Given the description of an element on the screen output the (x, y) to click on. 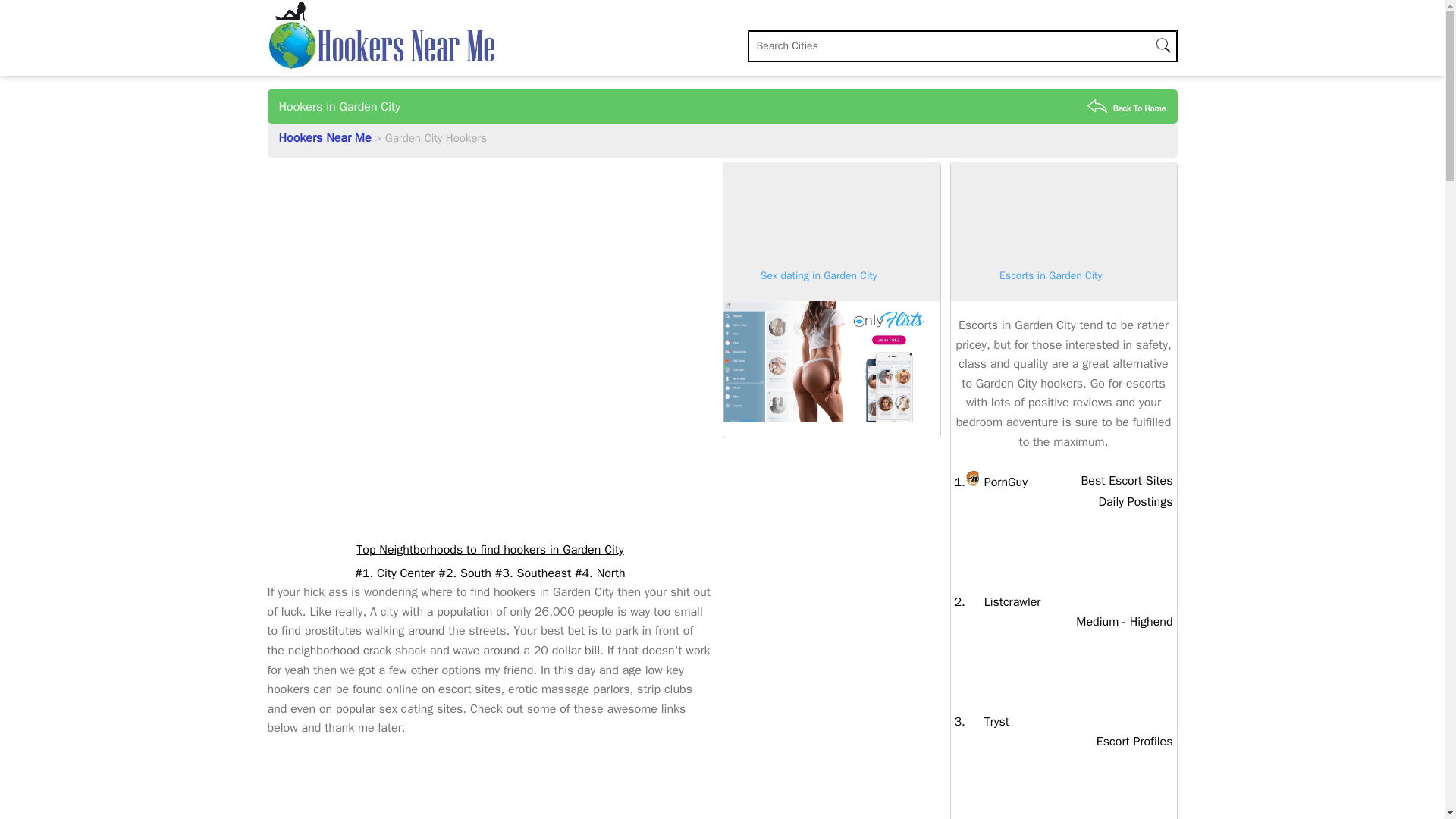
Back To Home (987, 721)
Garden City, Kansas (1126, 108)
Hookers Near Me  (996, 482)
